Given the description of an element on the screen output the (x, y) to click on. 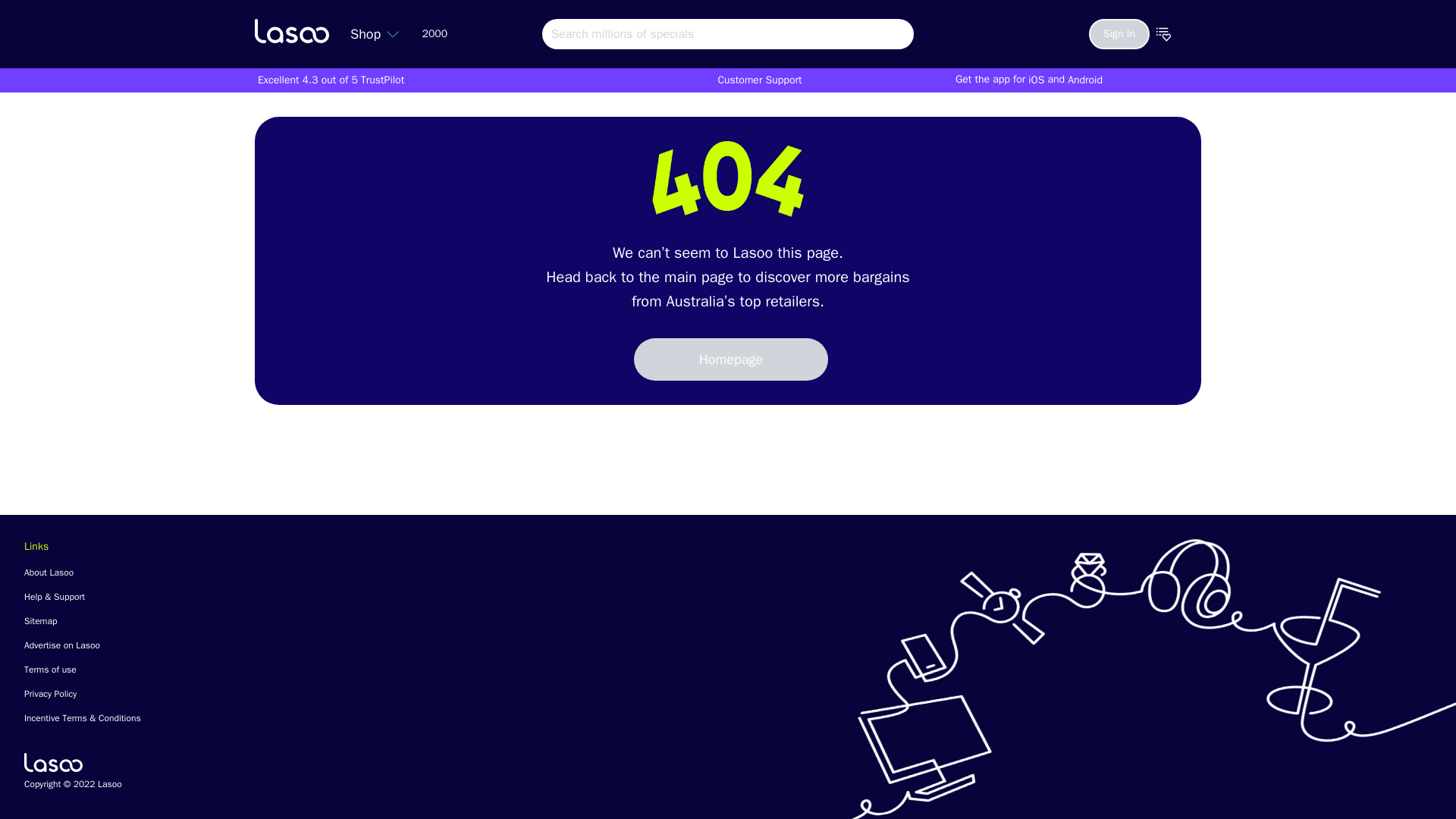
Go to wishlist (1163, 33)
lasoo (291, 30)
Shop (374, 33)
Not found (727, 178)
Lasoo (53, 762)
Go to cart (1185, 33)
